Given the description of an element on the screen output the (x, y) to click on. 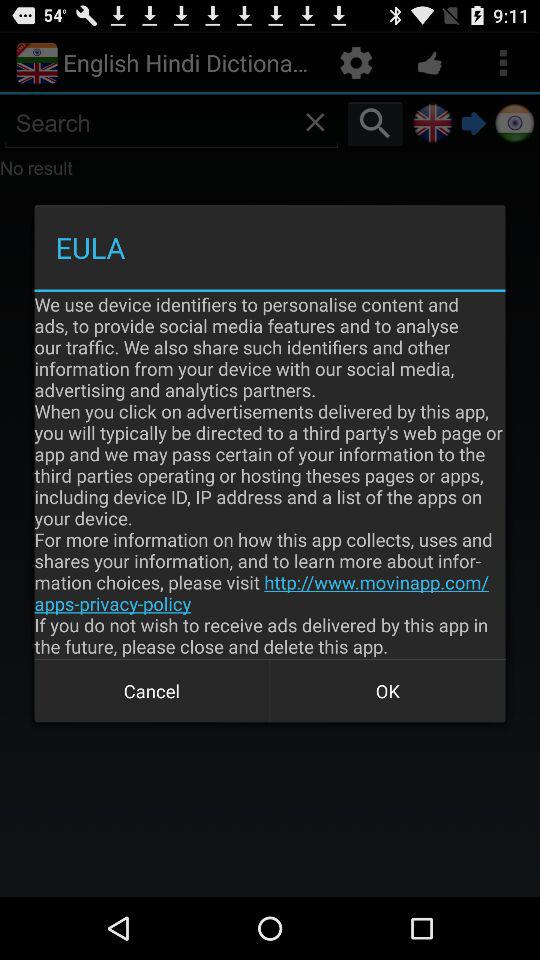
jump to the cancel (151, 690)
